Given the description of an element on the screen output the (x, y) to click on. 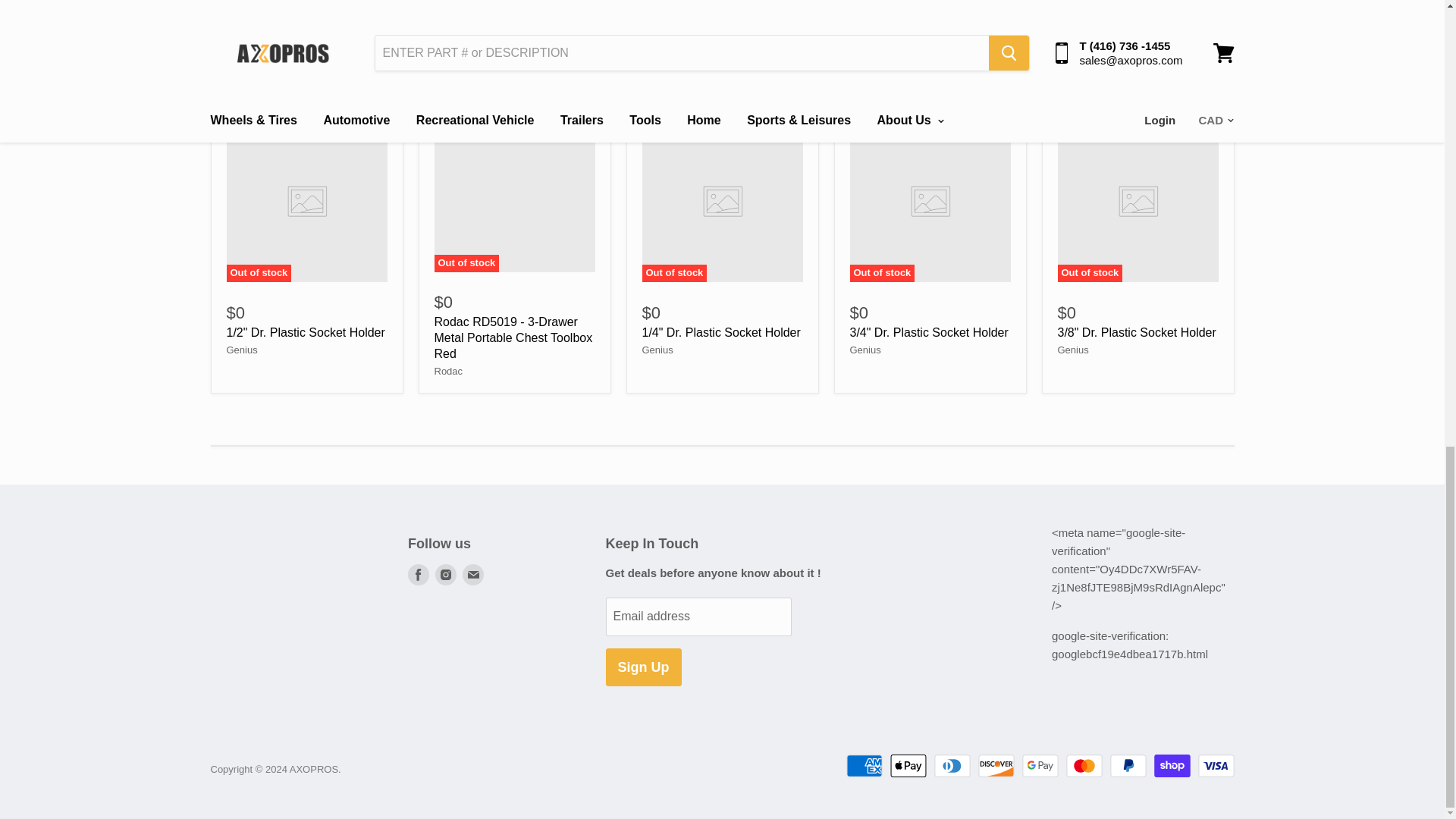
Instagram (446, 574)
American Express (863, 765)
Apple Pay (907, 765)
Diners Club (952, 765)
E-mail (473, 574)
Facebook (418, 574)
